Given the description of an element on the screen output the (x, y) to click on. 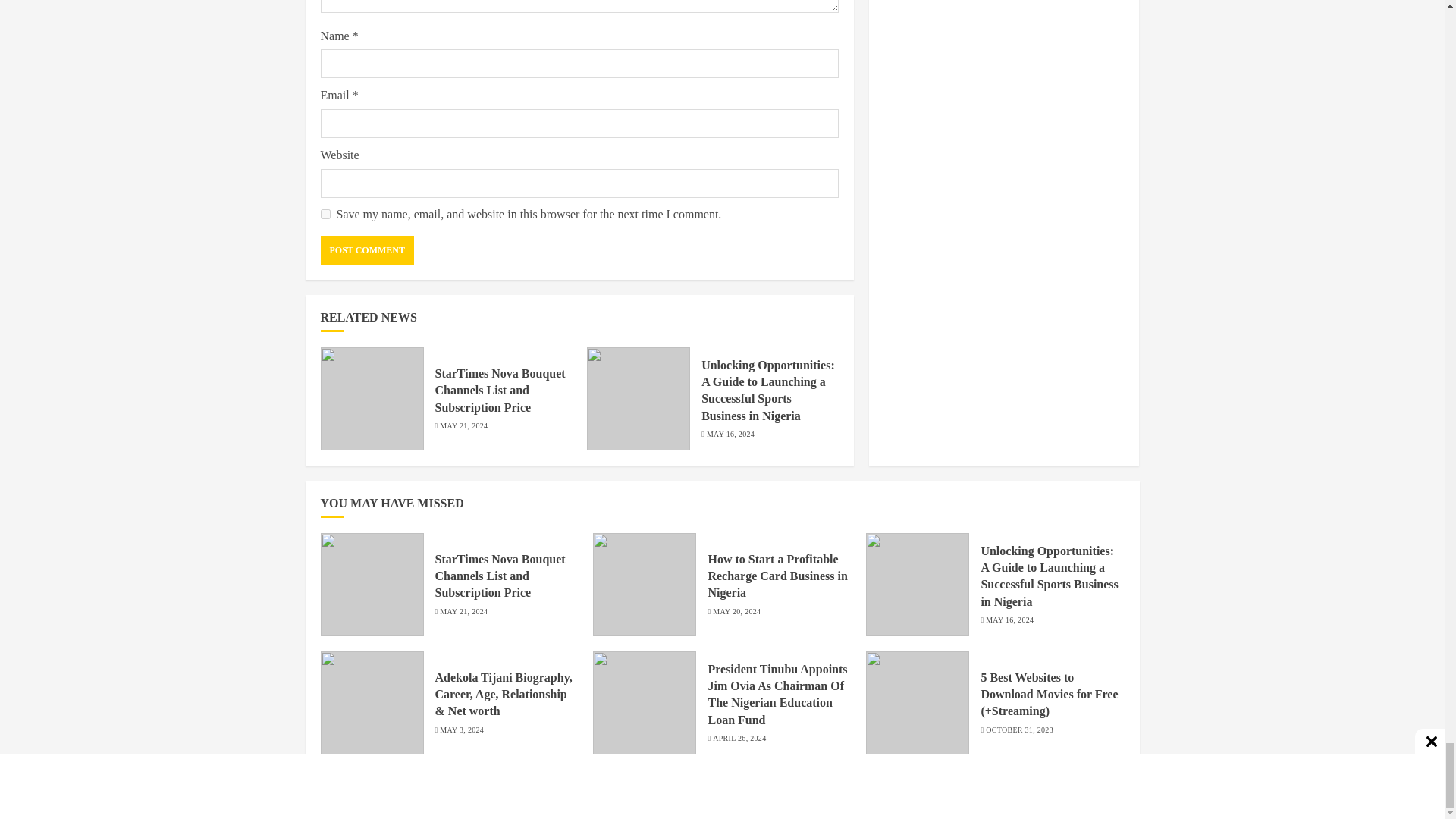
MAY 16, 2024 (730, 434)
Post Comment (366, 249)
StarTimes Nova Bouquet Channels List and Subscription Price (500, 576)
StarTimes Nova Bouquet Channels List and Subscription Price (500, 390)
Post Comment (366, 249)
MAY 21, 2024 (463, 425)
yes (325, 214)
MAY 21, 2024 (463, 611)
